Given the description of an element on the screen output the (x, y) to click on. 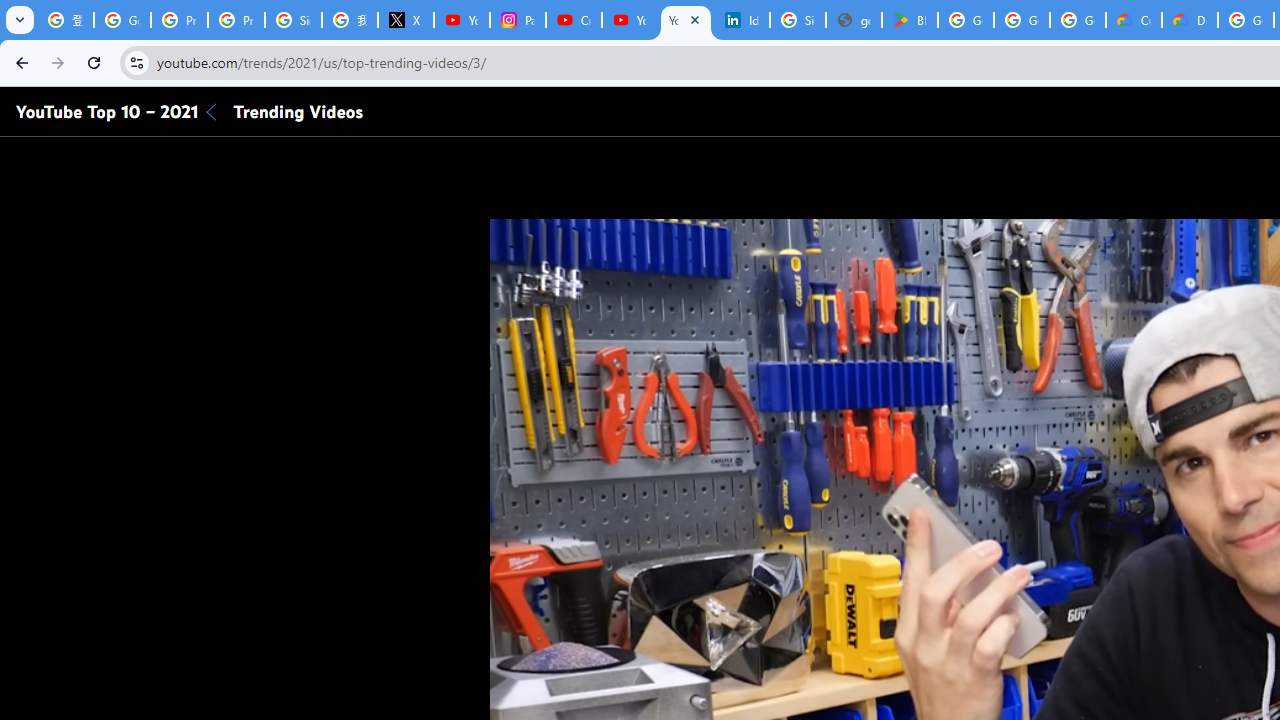
YouTube Content Monetization Policies - How YouTube Works (461, 20)
X (405, 20)
